Given the description of an element on the screen output the (x, y) to click on. 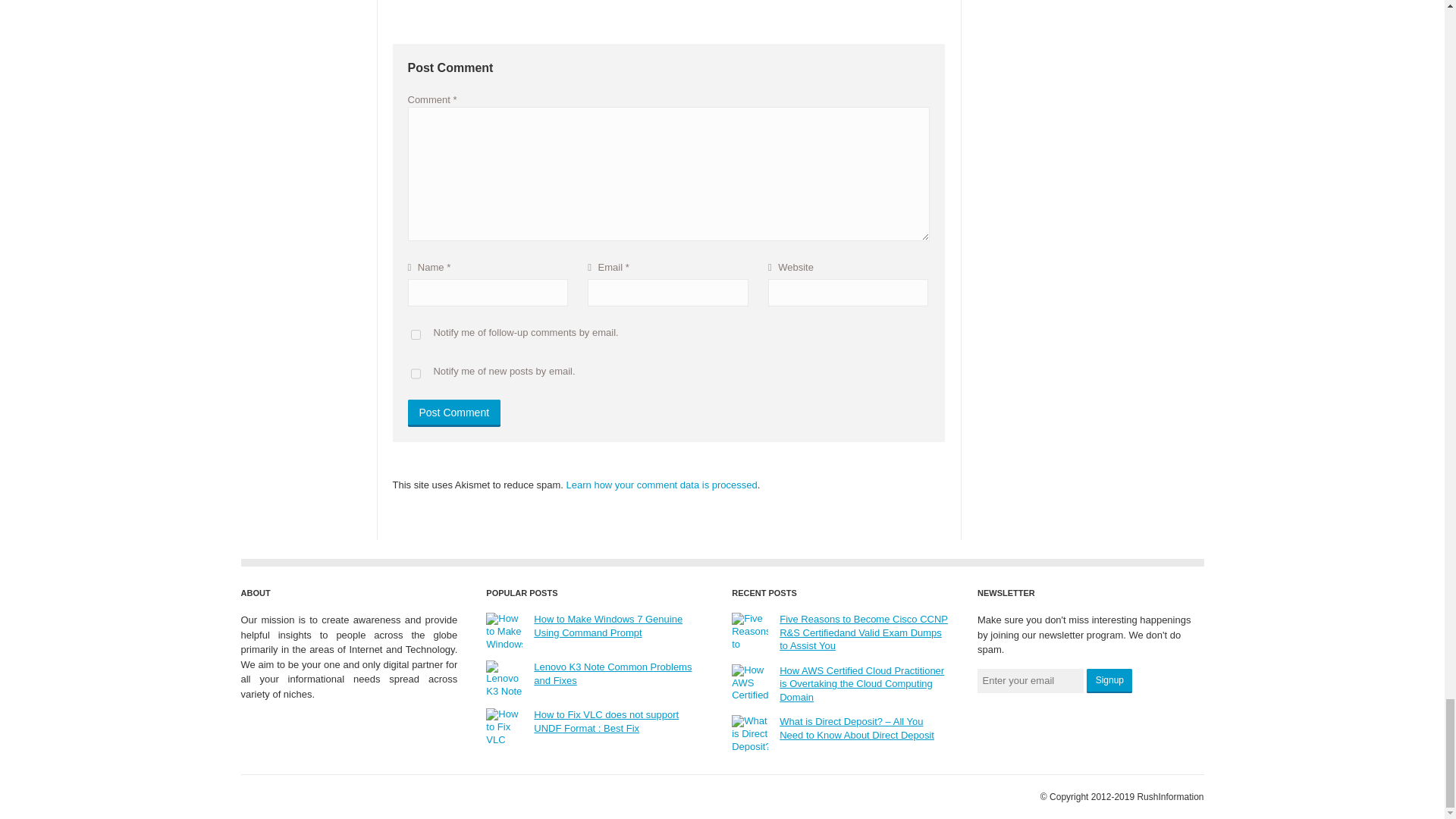
Post Comment (453, 412)
